Given the description of an element on the screen output the (x, y) to click on. 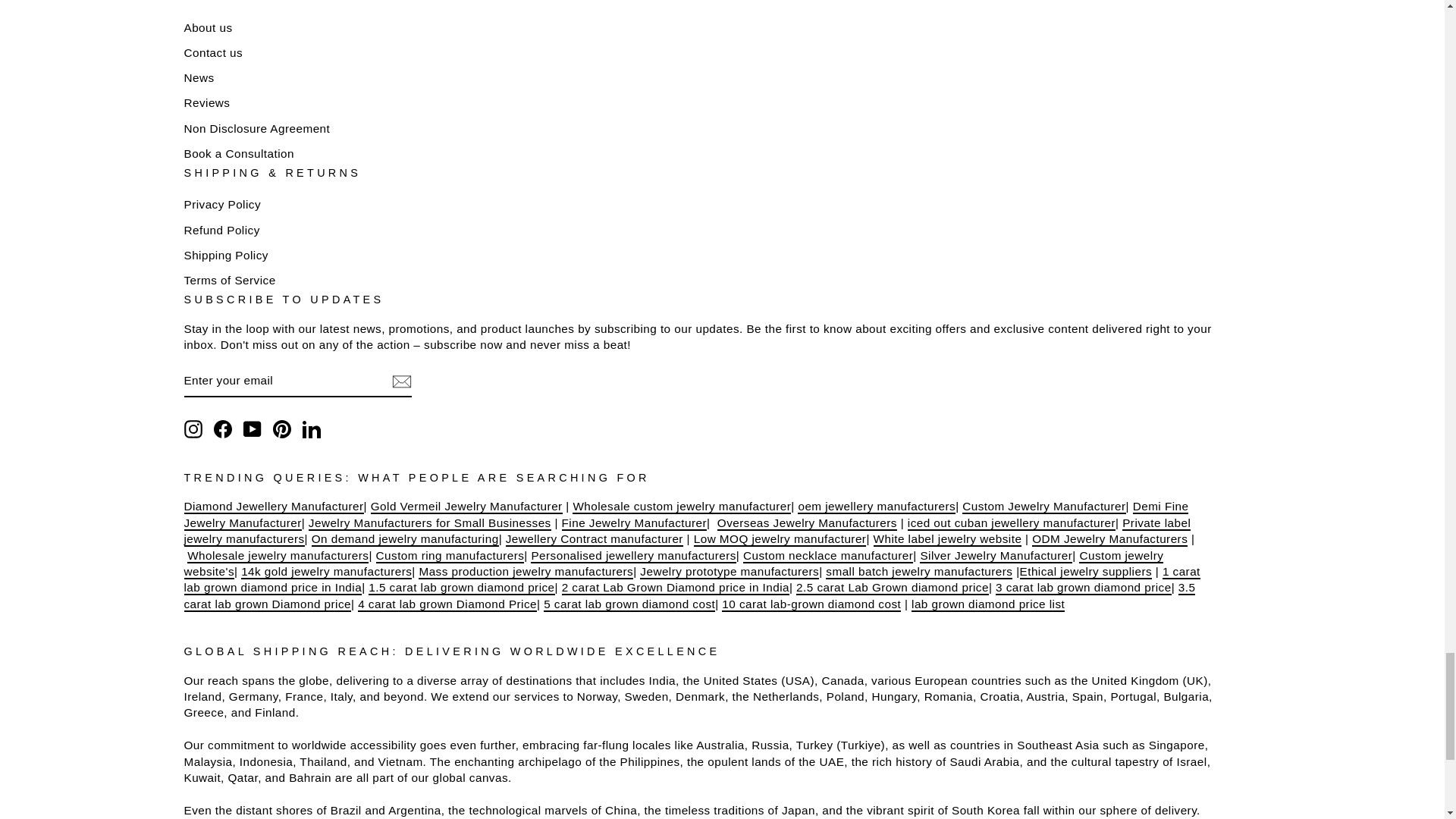
Variation on Facebook (222, 429)
Variation on Pinterest (282, 429)
instagram (192, 429)
Wholesale custom jewelry manufacturer (681, 506)
Variation on LinkedIn (310, 429)
Variation on Instagram (192, 429)
icon-email (400, 381)
Diamond Jewellery Manufacturer (272, 506)
Gold Vermeil Jewelry Manufacturer (466, 506)
Variation on YouTube (251, 429)
